Given the description of an element on the screen output the (x, y) to click on. 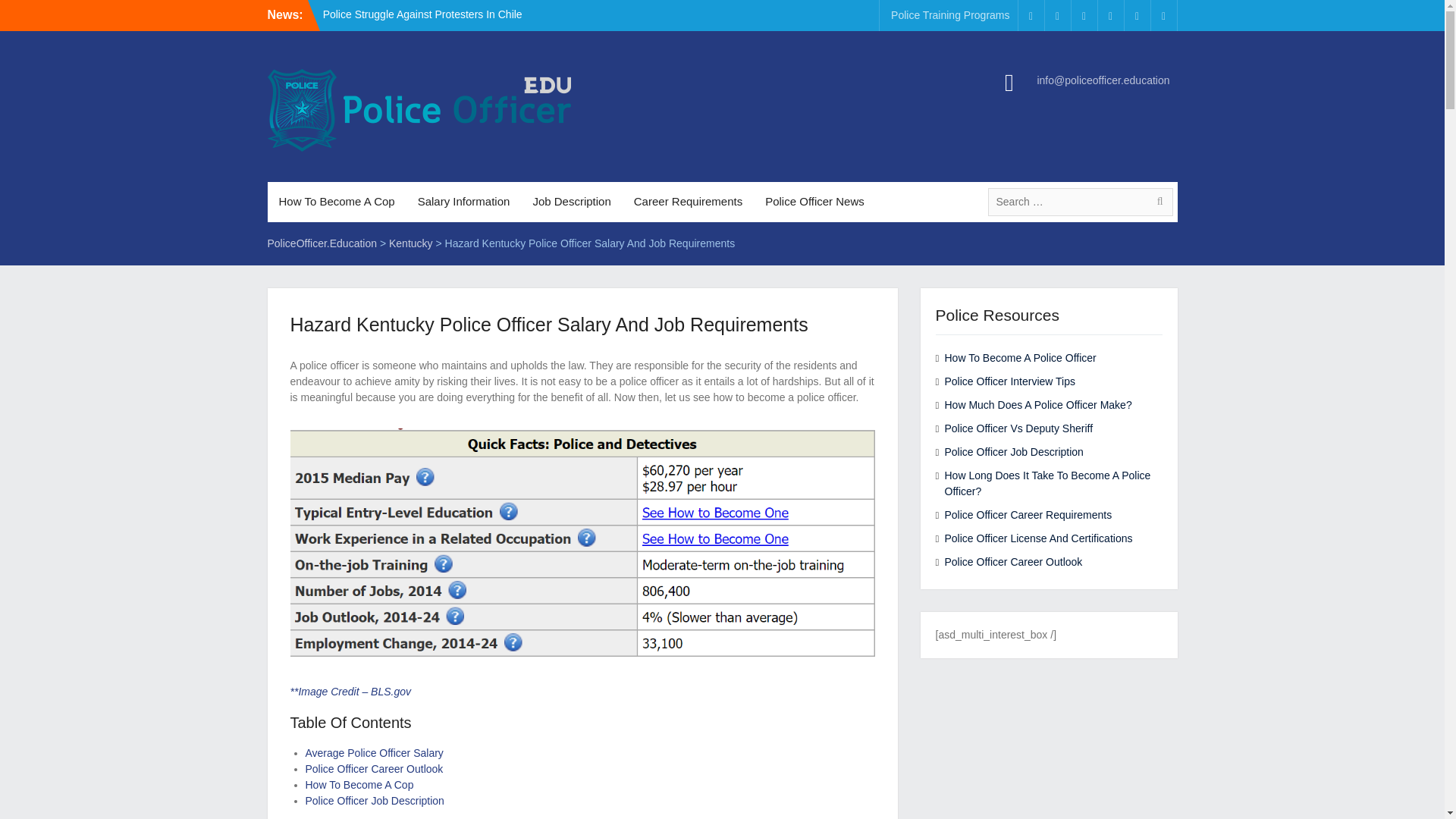
Police Officer News (815, 201)
How To Become A Cop (336, 201)
Career Requirements (688, 201)
Go to the Kentucky State Career archives. (410, 242)
Police Training Programs (949, 15)
Average Police Officer Salary (373, 752)
Police Officer Job Description (374, 800)
Salary Information (463, 201)
Police Struggle Against Protesters In Chile (422, 14)
Kentucky (410, 242)
Police Officer Career Outlook (373, 768)
Job Description (571, 201)
PoliceOfficer.Education (321, 242)
Go to PoliceOfficer.Education. (321, 242)
How To Become A Cop (358, 784)
